Given the description of an element on the screen output the (x, y) to click on. 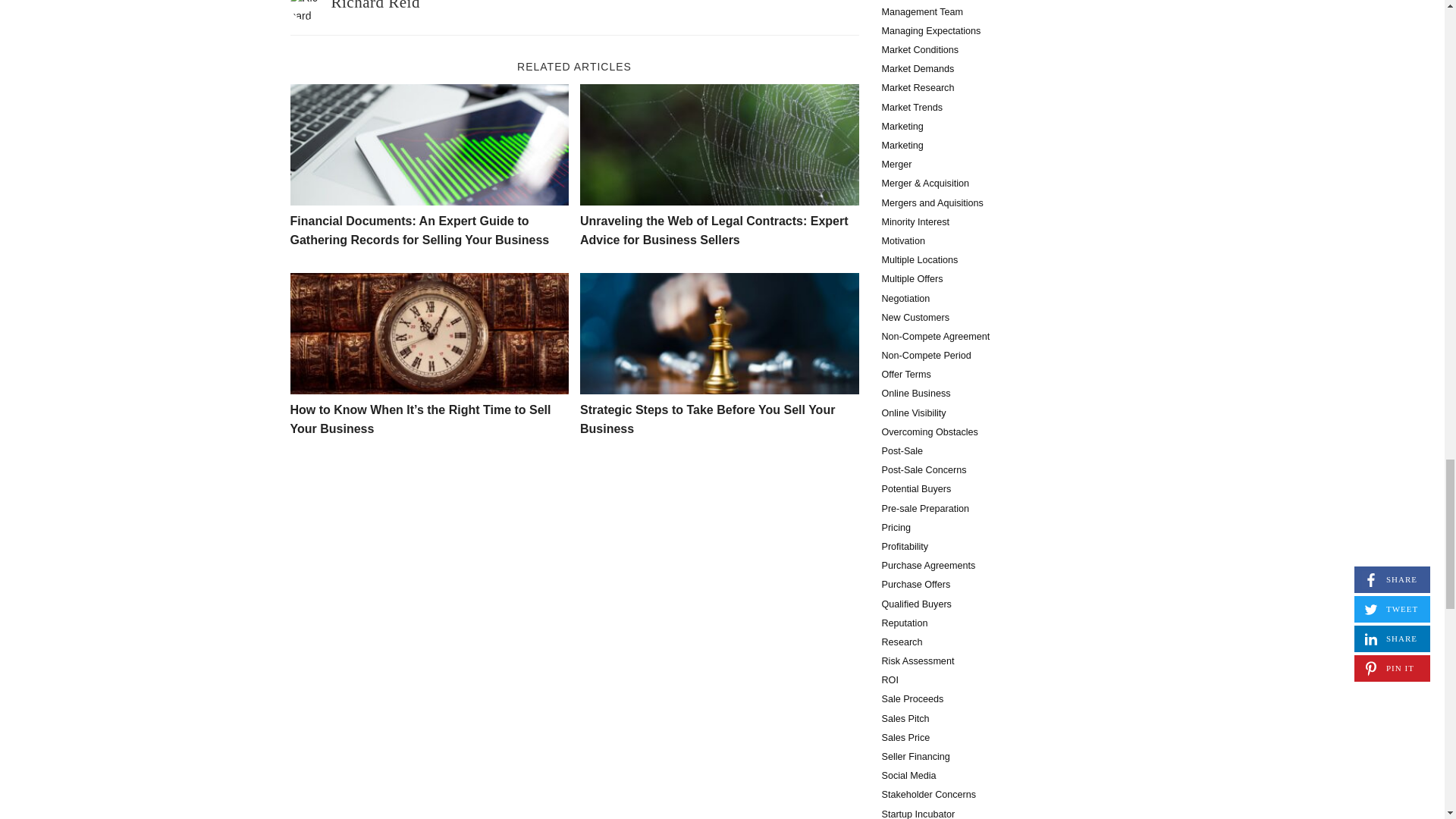
 - sellmybusiness-io (429, 144)
Strategic Steps to Take Before You Sell Your Business (719, 332)
 - sellmybusiness-io (719, 332)
 - sellmybusiness-io (719, 144)
Strategic Steps to Take Before You Sell Your Business (706, 419)
 - sellmybusiness-io (429, 332)
